Given the description of an element on the screen output the (x, y) to click on. 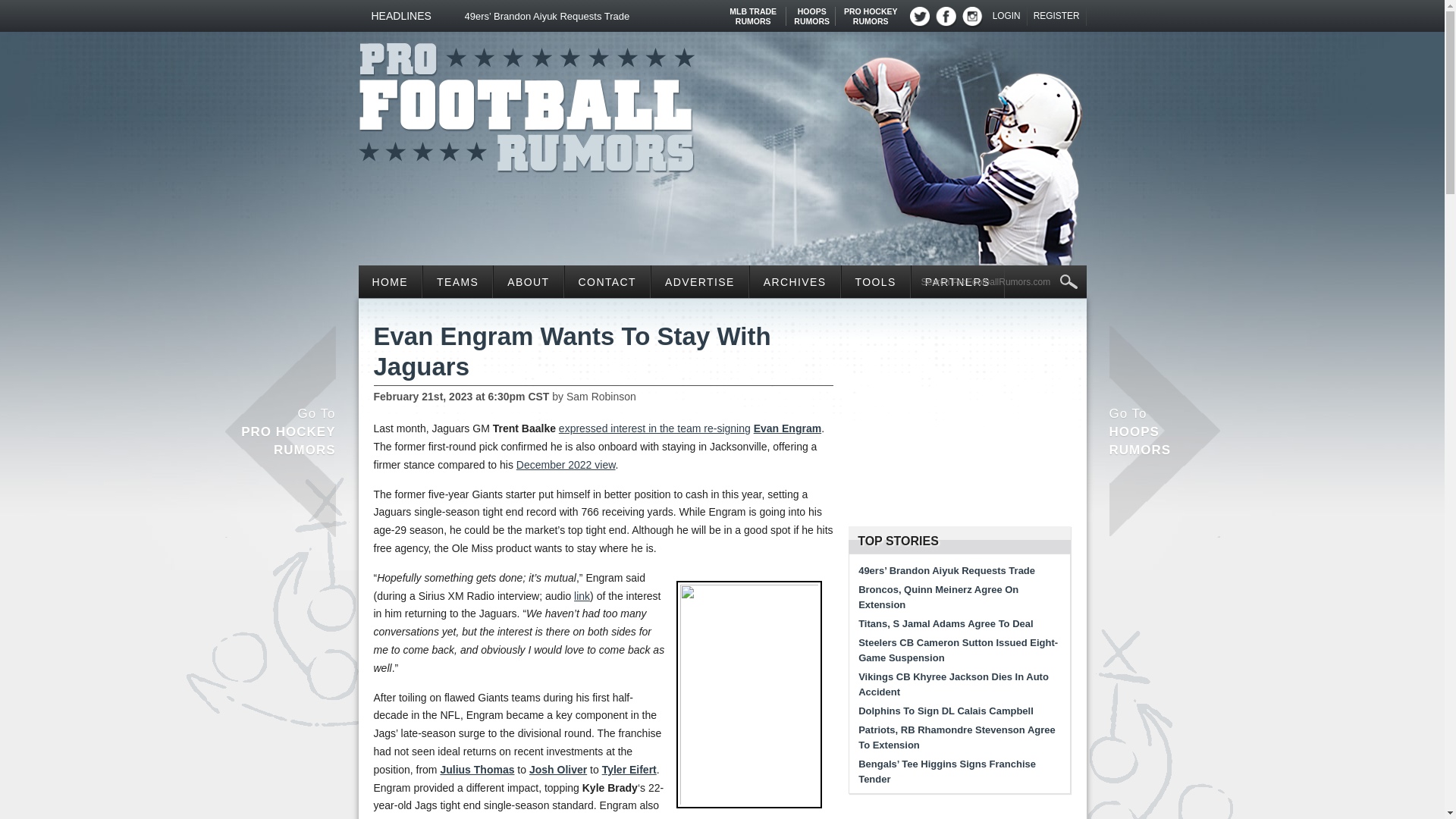
HOME (390, 281)
TEAMS (457, 281)
REGISTER (753, 11)
Search for: (1056, 16)
LOGIN (999, 282)
Pro Football Rumors (1007, 16)
Search (870, 11)
